Given the description of an element on the screen output the (x, y) to click on. 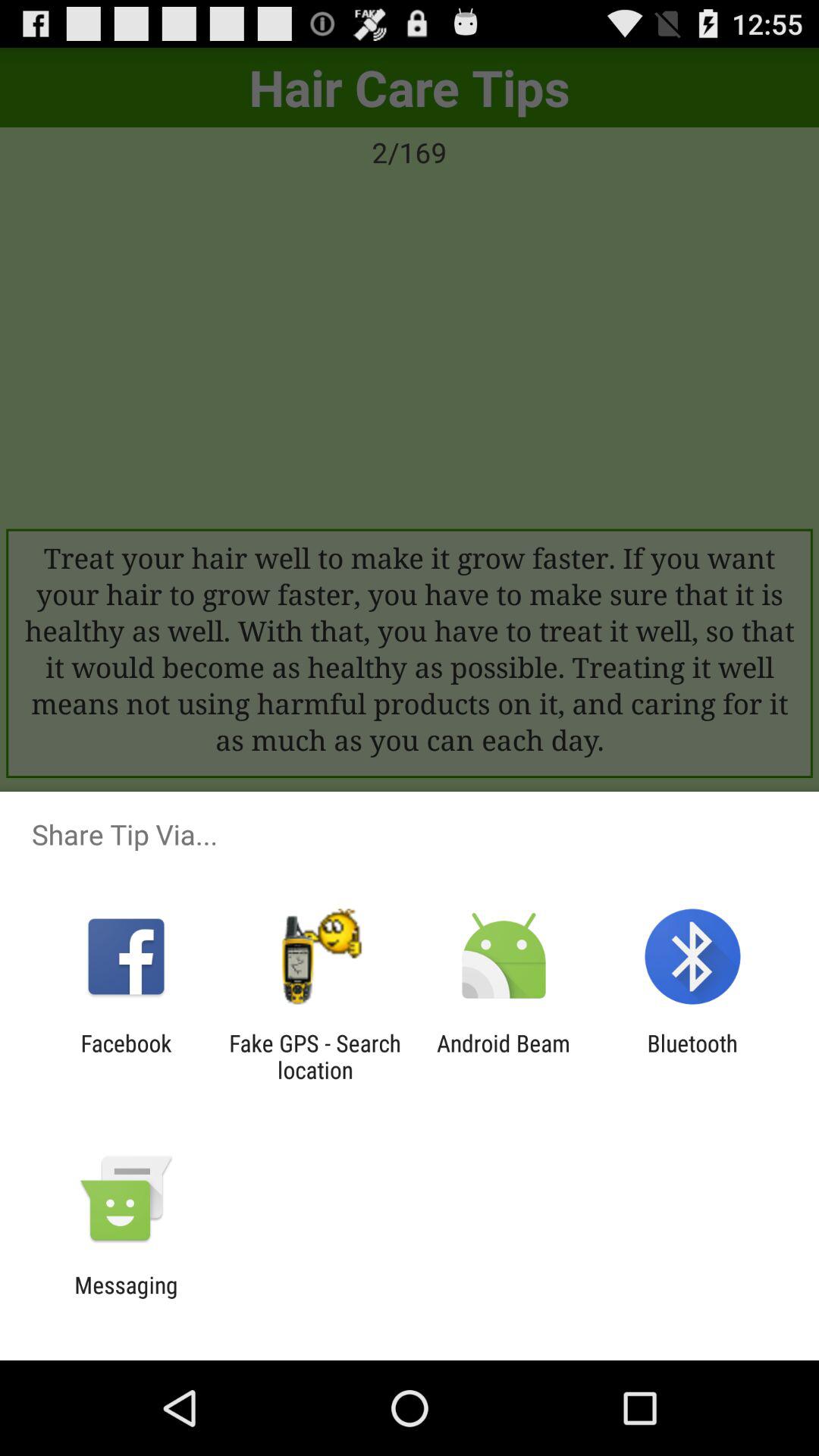
open item to the right of the android beam app (692, 1056)
